Given the description of an element on the screen output the (x, y) to click on. 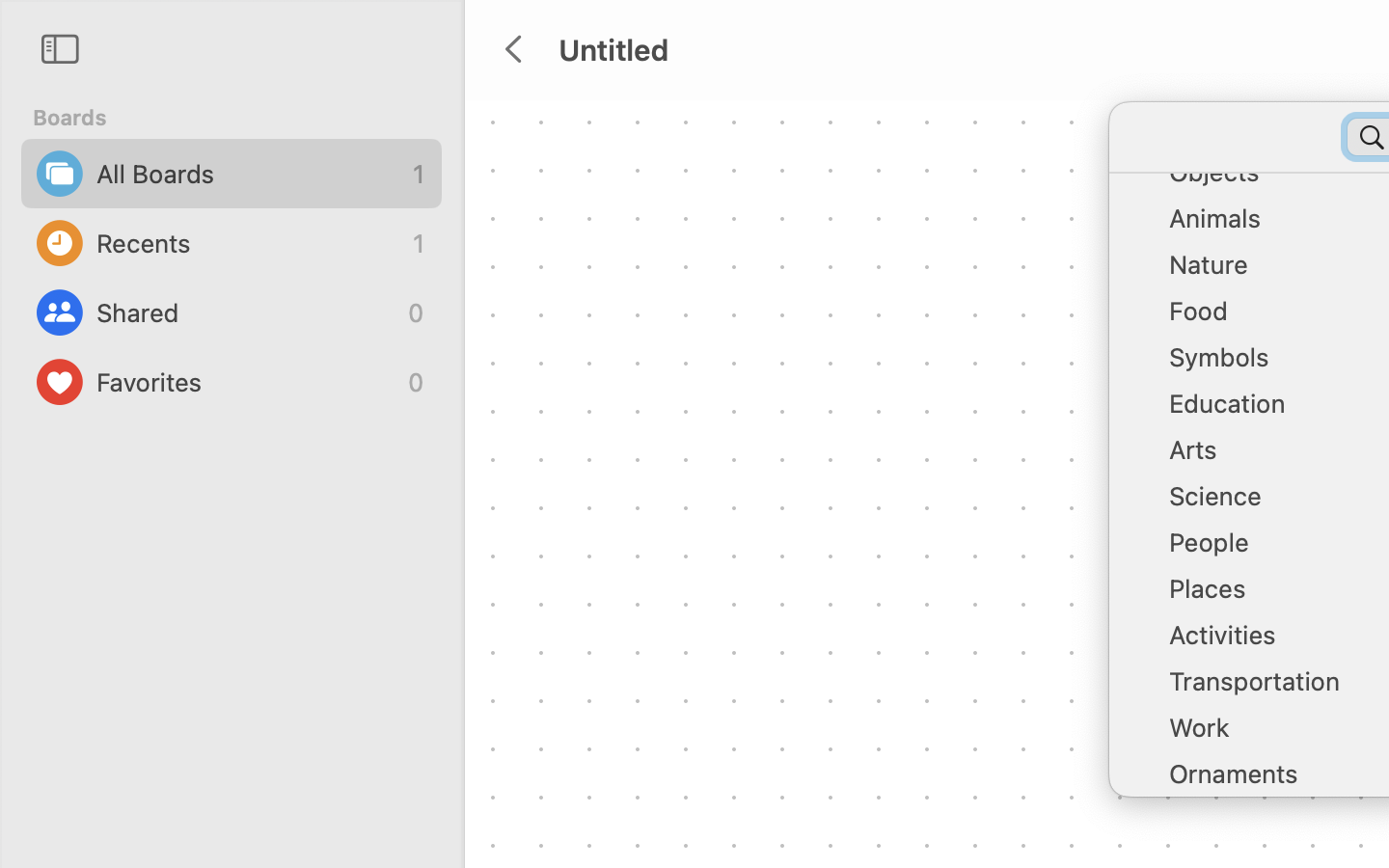
Science Element type: AXStaticText (1273, 503)
People Element type: AXStaticText (1273, 549)
Symbols Element type: AXStaticText (1273, 364)
Education Element type: AXStaticText (1273, 410)
Nature Element type: AXStaticText (1273, 271)
